Given the description of an element on the screen output the (x, y) to click on. 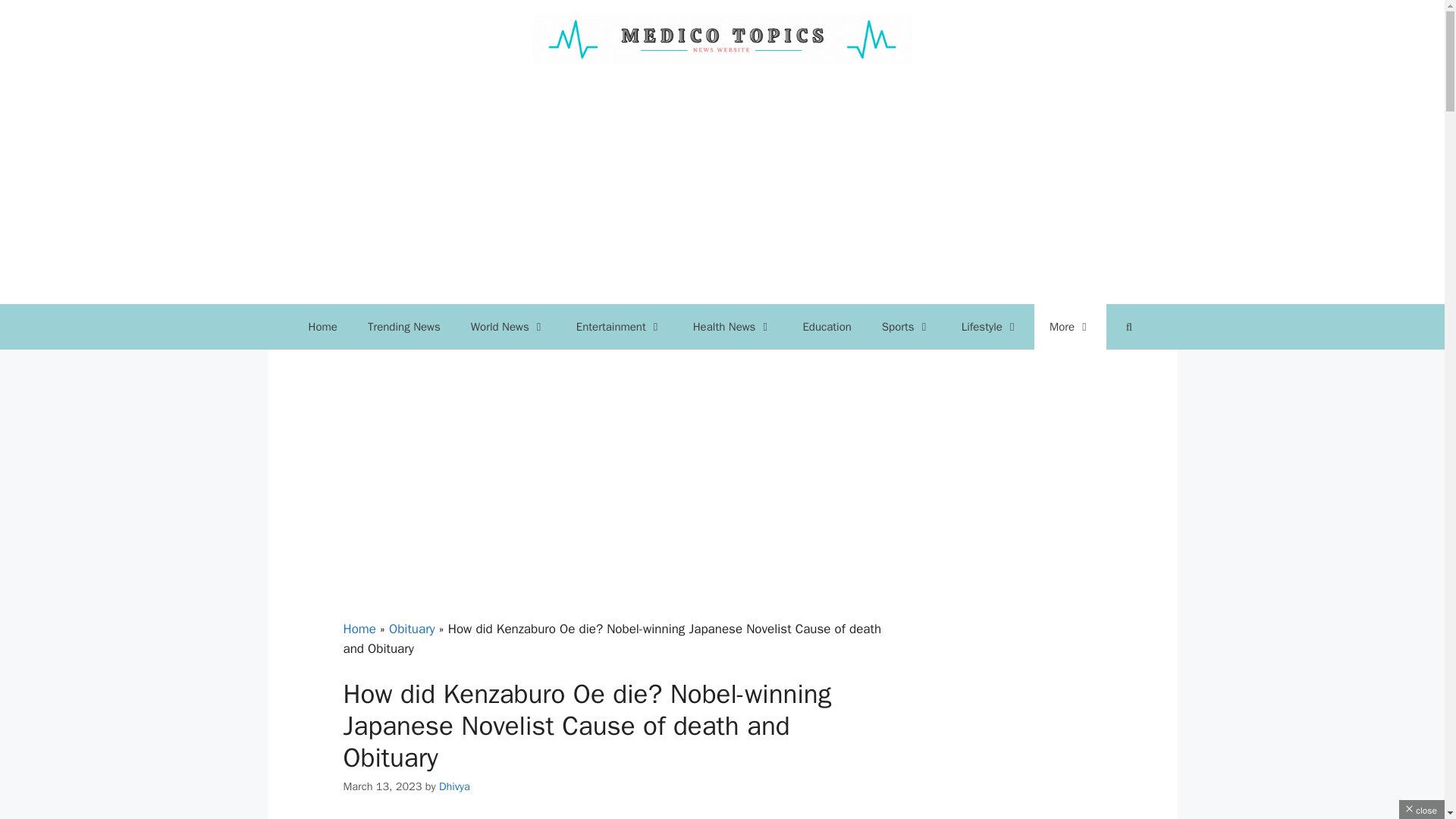
World News (507, 326)
View all posts by Dhivya (454, 786)
Education (826, 326)
Trending News (403, 326)
Health News (732, 326)
Entertainment (619, 326)
Home (323, 326)
Sports (906, 326)
